Given the description of an element on the screen output the (x, y) to click on. 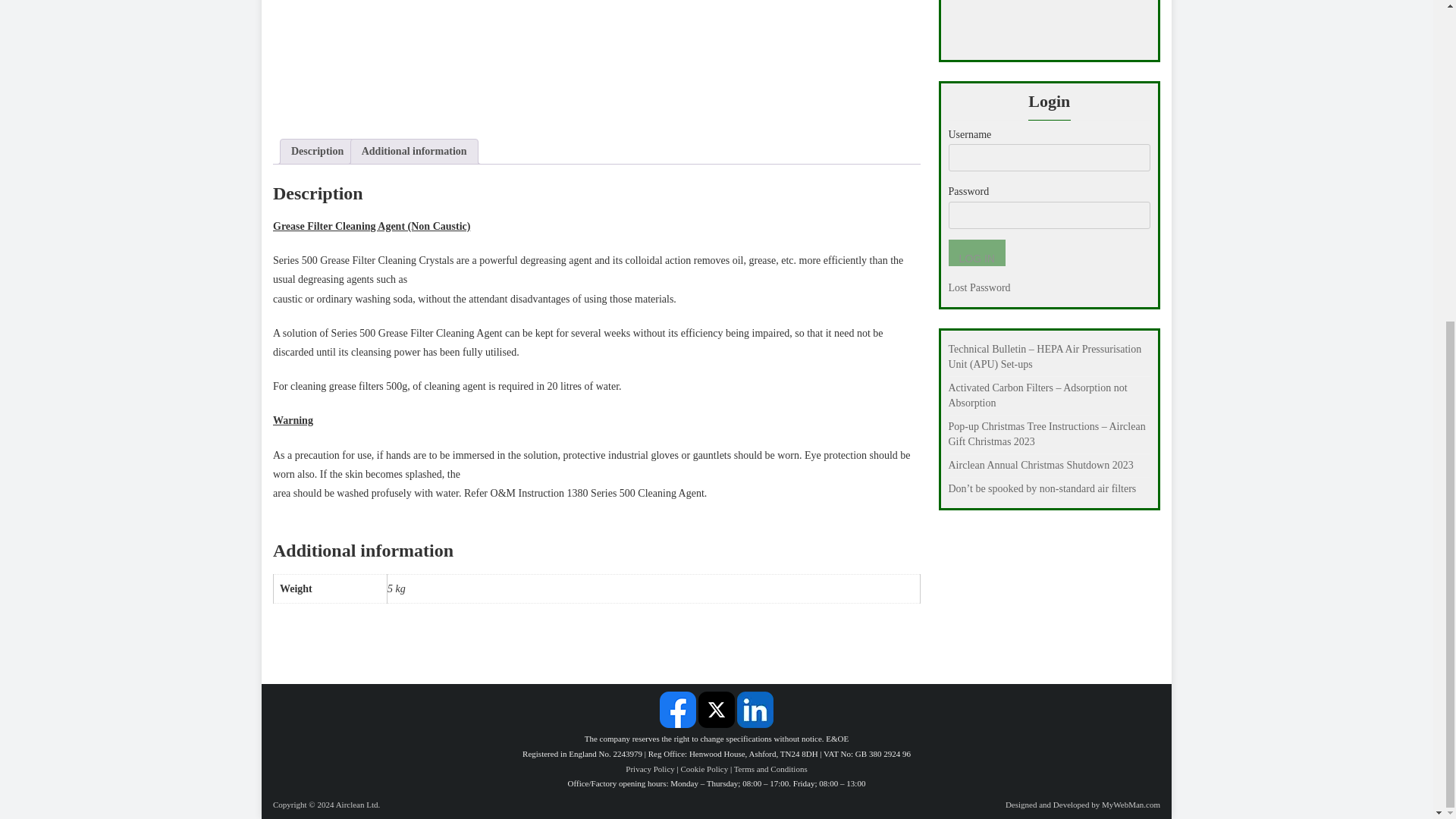
Log In (975, 252)
